Given the description of an element on the screen output the (x, y) to click on. 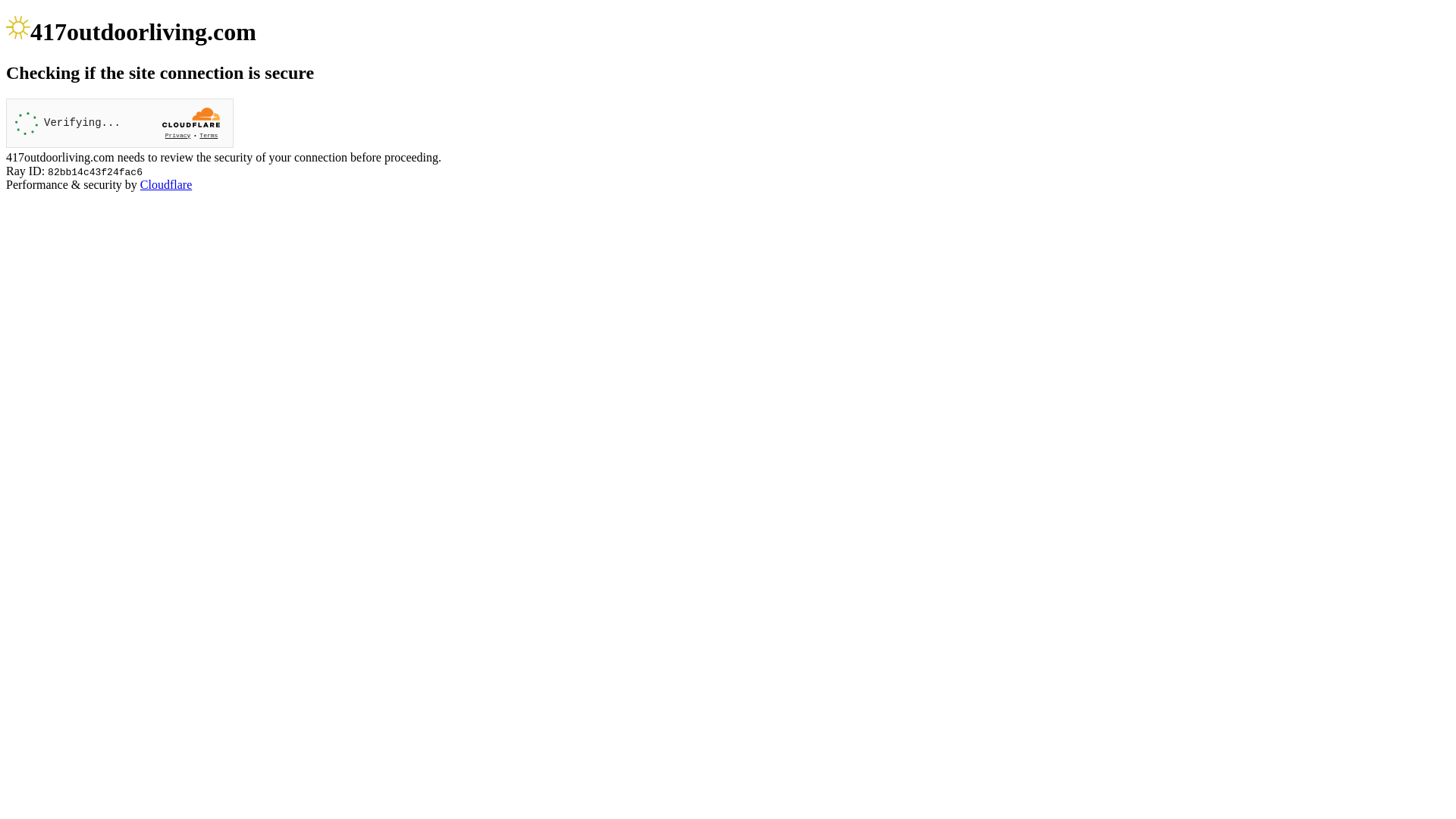
Cloudflare Element type: text (165, 184)
Widget containing a Cloudflare security challenge Element type: hover (119, 122)
